Given the description of an element on the screen output the (x, y) to click on. 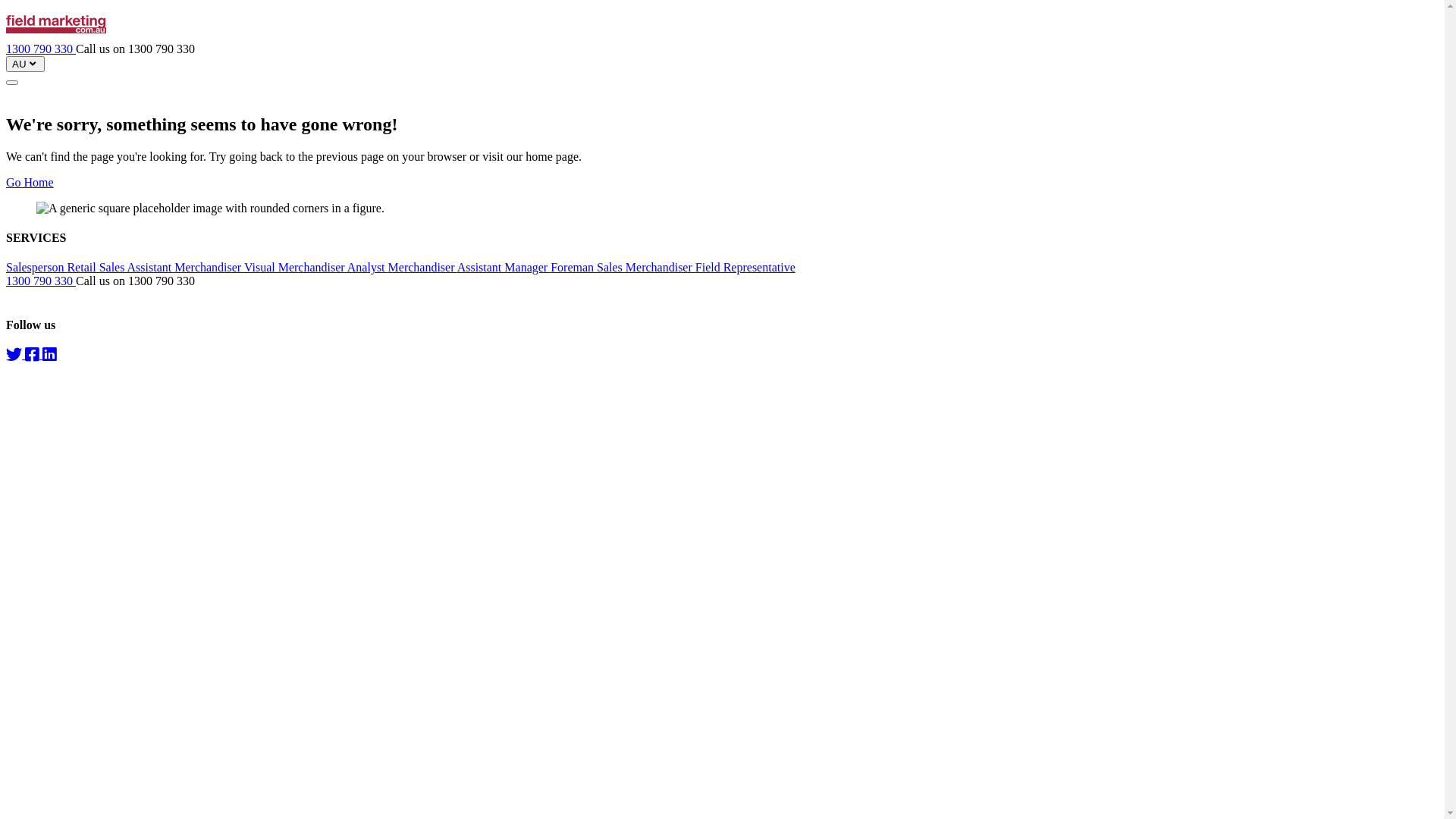
Merchandiser Element type: text (422, 266)
Salesperson Element type: text (36, 266)
Field Representative Element type: text (745, 266)
Sales Merchandiser Element type: text (645, 266)
Assistant Manager Element type: text (504, 266)
Retail Sales Assistant Element type: text (120, 266)
AU   Element type: text (25, 64)
1300 790 330 Element type: text (40, 280)
Foreman Element type: text (573, 266)
1300 790 330 Element type: text (40, 48)
Merchandiser Element type: text (209, 266)
Analyst Element type: text (367, 266)
Go Home Element type: text (29, 181)
Visual Merchandiser Element type: text (295, 266)
